Given the description of an element on the screen output the (x, y) to click on. 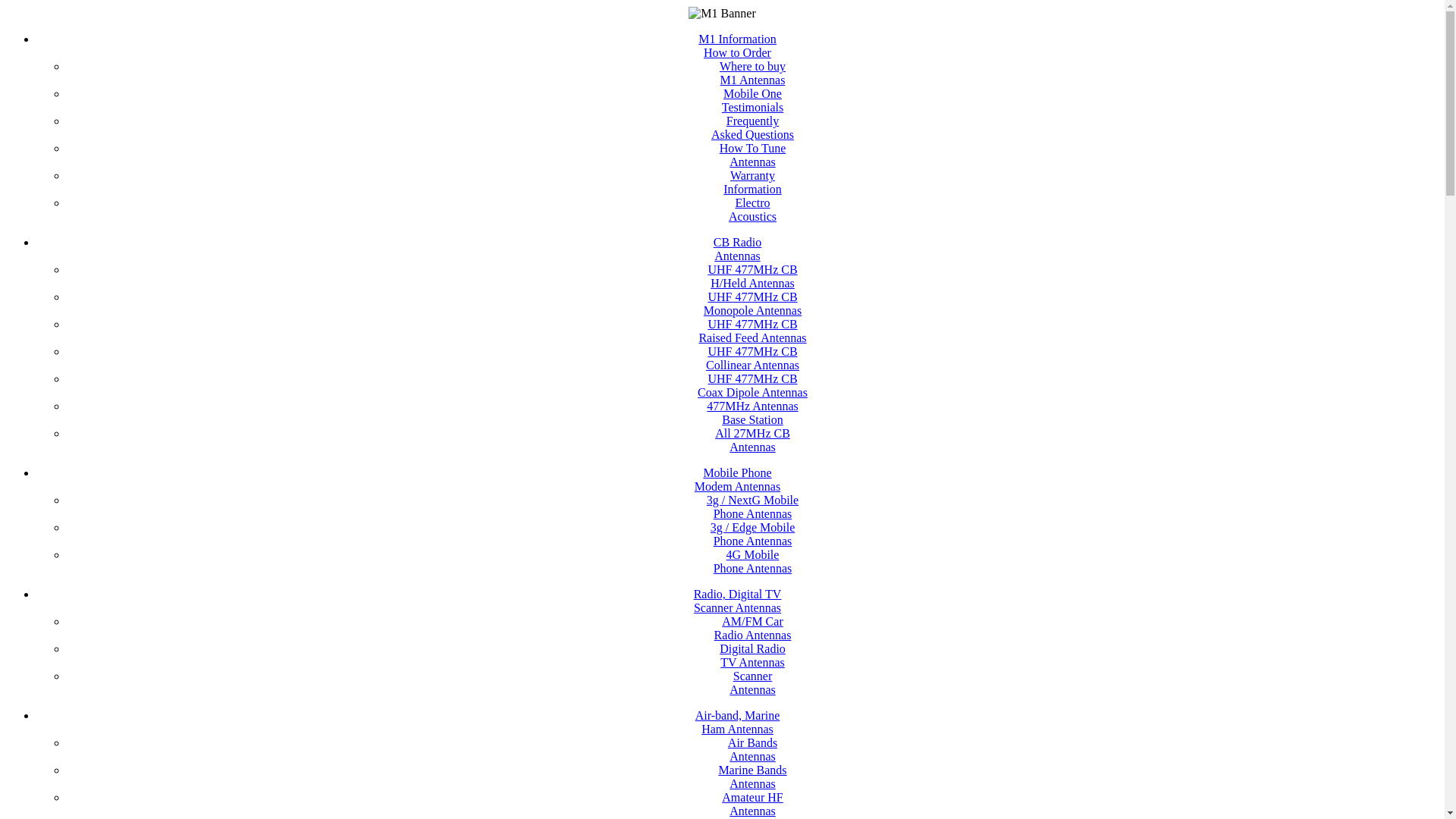
Marine Bands
Antennas Element type: text (752, 776)
Frequently
Asked Questions Element type: text (752, 127)
Electro
Acoustics Element type: text (752, 209)
UHF 477MHz CB
H/Held Antennas Element type: text (752, 276)
Where to buy
M1 Antennas Element type: text (752, 72)
UHF 477MHz CB
Monopole Antennas Element type: text (752, 303)
477MHz Antennas
Base Station Element type: text (751, 412)
4G Mobile
Phone Antennas Element type: text (752, 561)
AM/FM Car
Radio Antennas Element type: text (752, 628)
Air-band, Marine
Ham Antennas Element type: text (737, 722)
UHF 477MHz CB
Collinear Antennas Element type: text (752, 358)
How To Tune
Antennas Element type: text (752, 154)
3g / Edge Mobile
Phone Antennas Element type: text (752, 533)
Digital Radio
TV Antennas Element type: text (752, 655)
Amateur HF
Antennas Element type: text (751, 803)
Mobile One
Testimonials Element type: text (752, 100)
Radio, Digital TV
Scanner Antennas Element type: text (737, 600)
Air Bands
Antennas Element type: text (752, 749)
Mobile Phone
Modem Antennas Element type: text (737, 479)
UHF 477MHz CB
Coax Dipole Antennas Element type: text (752, 385)
3g / NextG Mobile
Phone Antennas Element type: text (752, 506)
UHF 477MHz CB
Raised Feed Antennas Element type: text (752, 330)
All 27MHz CB
Antennas Element type: text (752, 439)
Scanner
Antennas Element type: text (752, 682)
CB Radio
Antennas Element type: text (737, 248)
Warranty
Information Element type: text (752, 182)
M1 Information
How to Order Element type: text (737, 45)
